Given the description of an element on the screen output the (x, y) to click on. 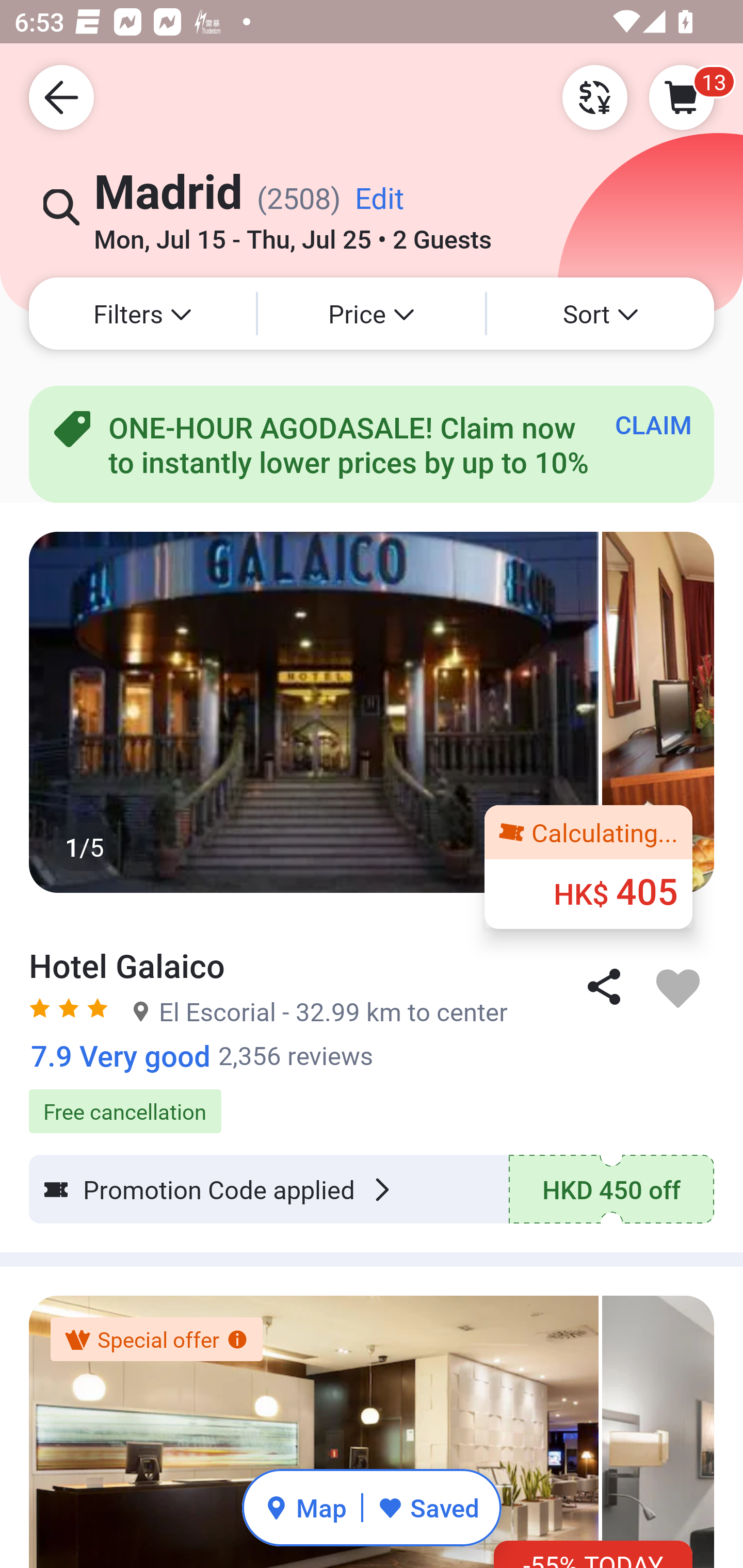
Filters (141, 313)
Price (371, 313)
Sort (600, 313)
CLAIM (653, 424)
1/5 (371, 711)
Calculating... ‪HK$ 405 (588, 866)
Free cancellation (371, 1100)
Promotion Code applied HKD 450 off (371, 1189)
Special offer (156, 1339)
Map (305, 1507)
Saved (428, 1507)
